Given the description of an element on the screen output the (x, y) to click on. 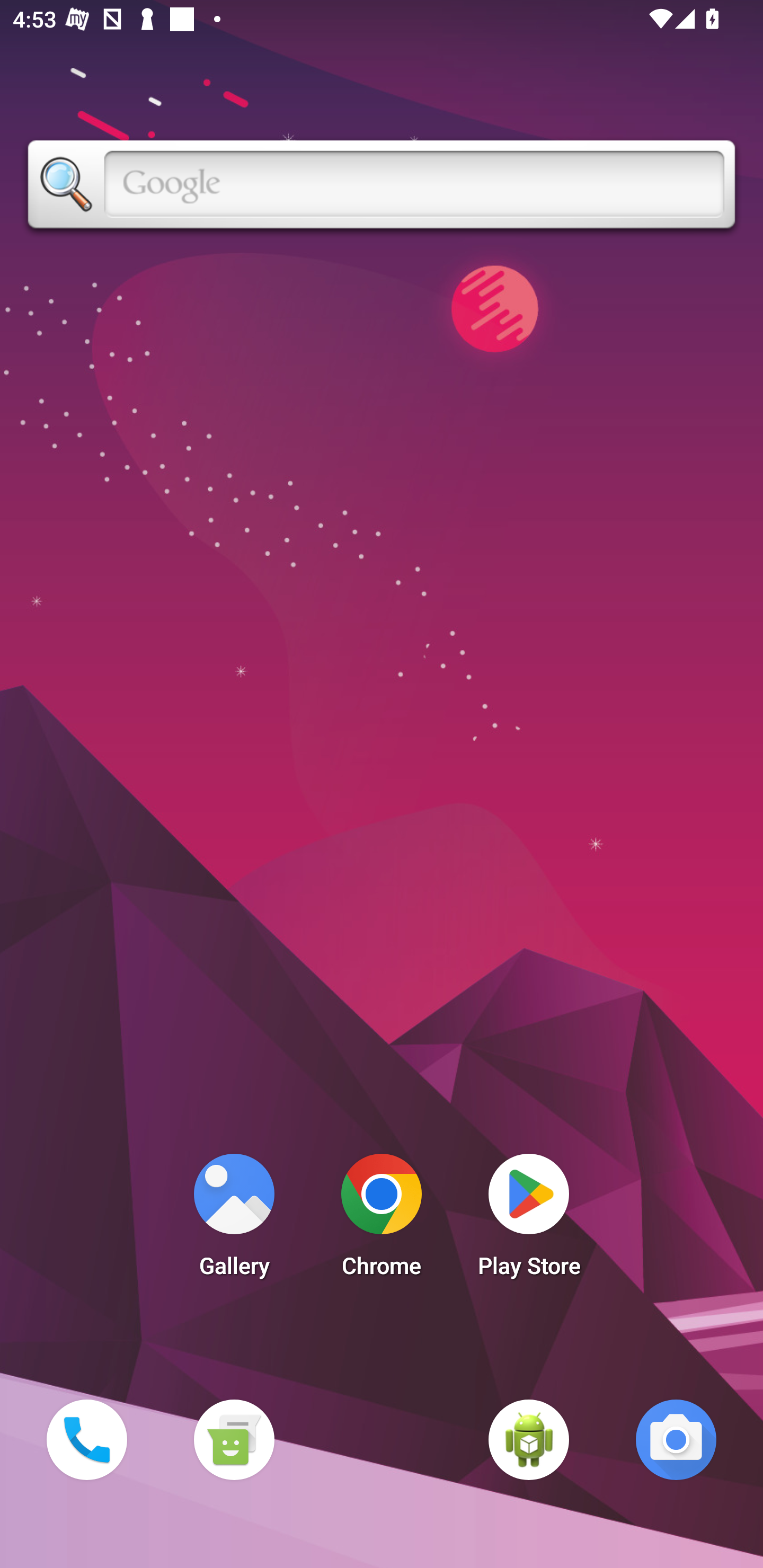
Gallery (233, 1220)
Chrome (381, 1220)
Play Store (528, 1220)
Phone (86, 1439)
Messaging (233, 1439)
WebView Browser Tester (528, 1439)
Camera (676, 1439)
